Given the description of an element on the screen output the (x, y) to click on. 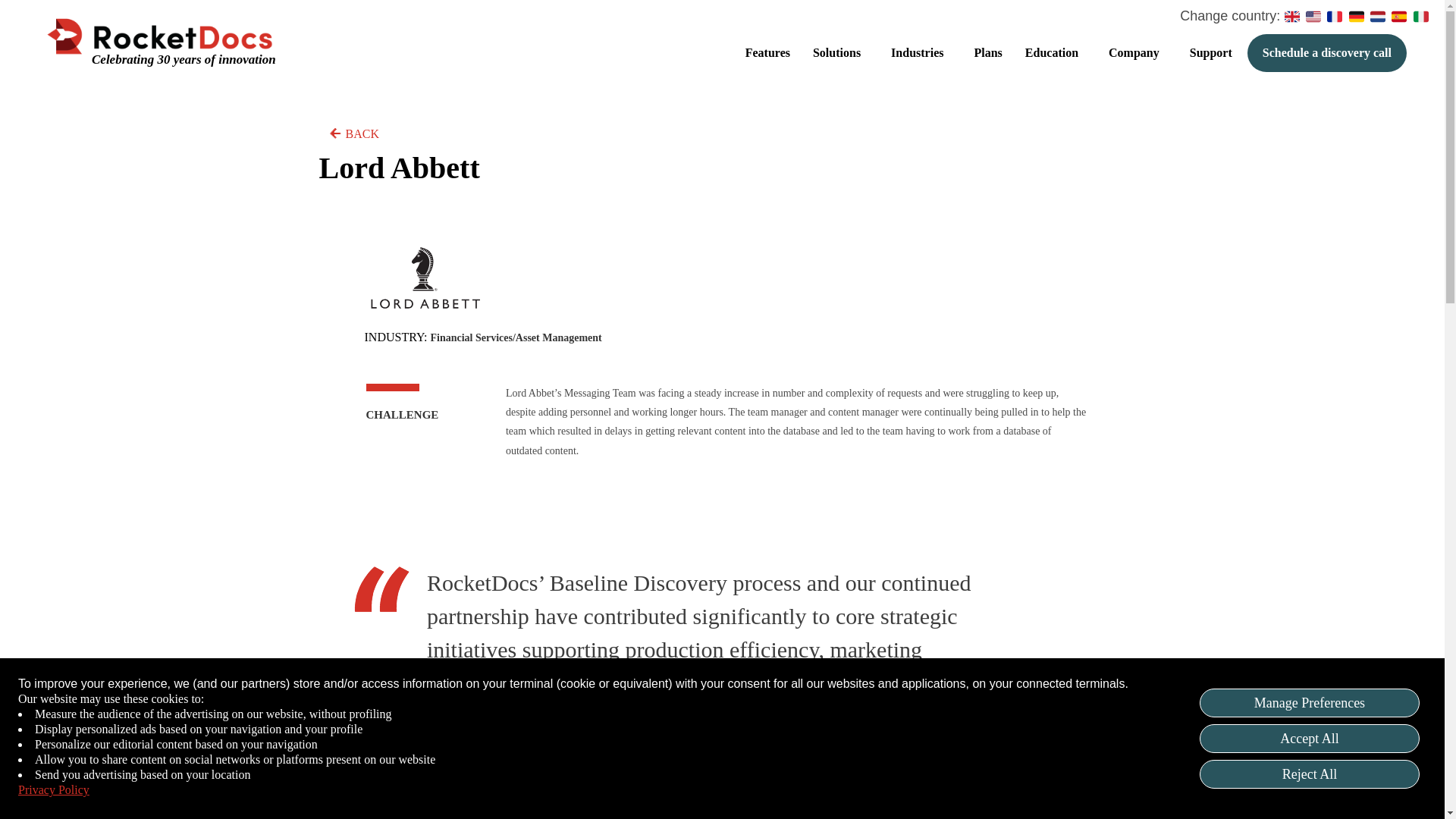
Solutions (844, 53)
Celebrating 30 years of innovation (183, 59)
Features (771, 53)
Reject All (1309, 774)
Manage Preferences (1309, 702)
Industries (924, 53)
Accept All (1309, 737)
Privacy Policy (52, 789)
